Given the description of an element on the screen output the (x, y) to click on. 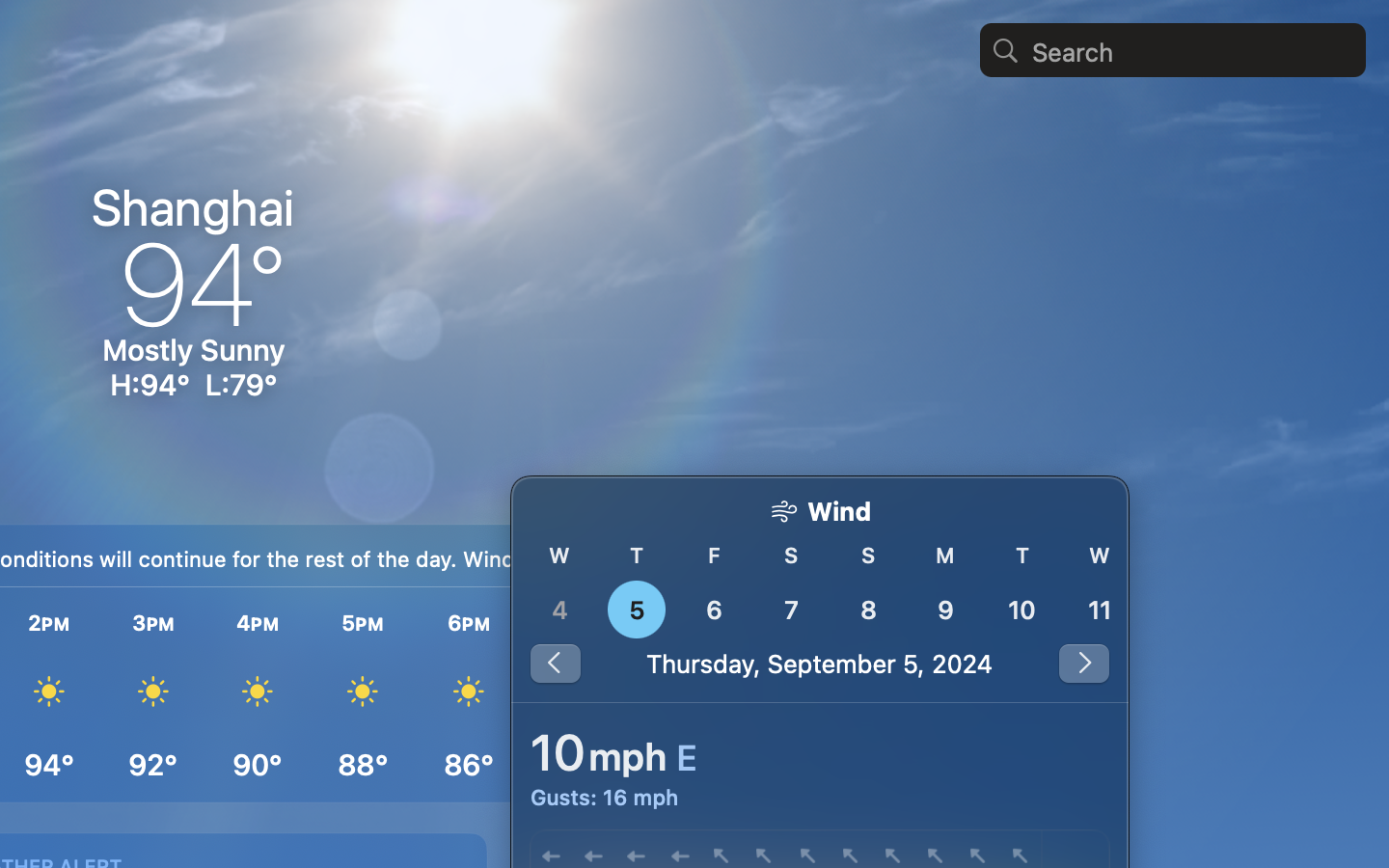
nan Element type: AXSlider (819, 590)
